Given the description of an element on the screen output the (x, y) to click on. 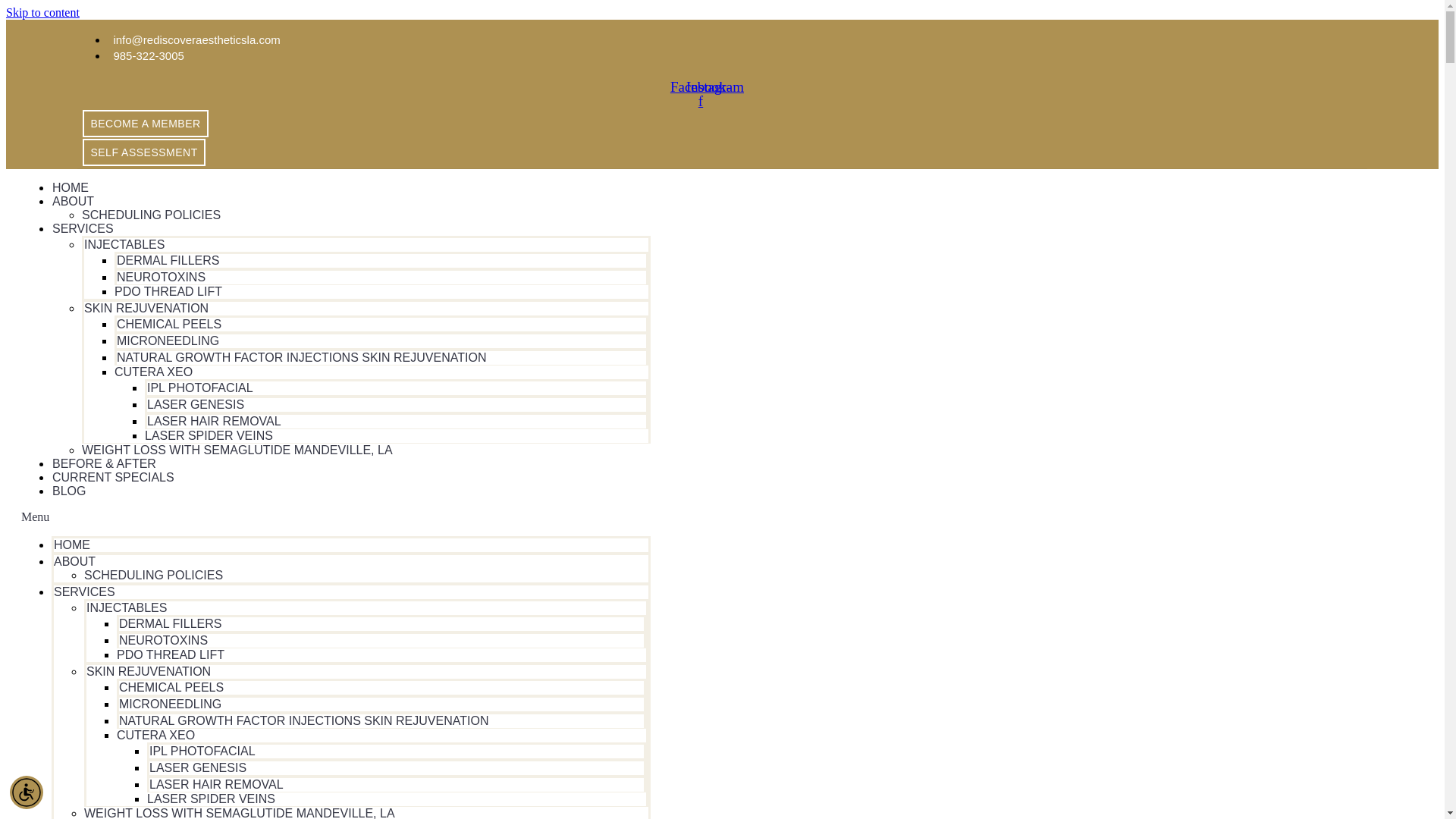
CURRENT SPECIALS (112, 476)
LASER SPIDER VEINS (208, 435)
NEUROTOXINS (163, 640)
LASER HAIR REMOVAL (214, 420)
SCHEDULING POLICIES (151, 213)
SERVICES (82, 227)
INJECTABLES (126, 606)
PDO THREAD LIFT (168, 291)
Instagram (714, 86)
MICRONEEDLING (167, 339)
BLOG (67, 490)
CUTERA XEO (153, 371)
PDO THREAD LIFT (170, 653)
HOME (71, 544)
ABOUT (72, 200)
